Given the description of an element on the screen output the (x, y) to click on. 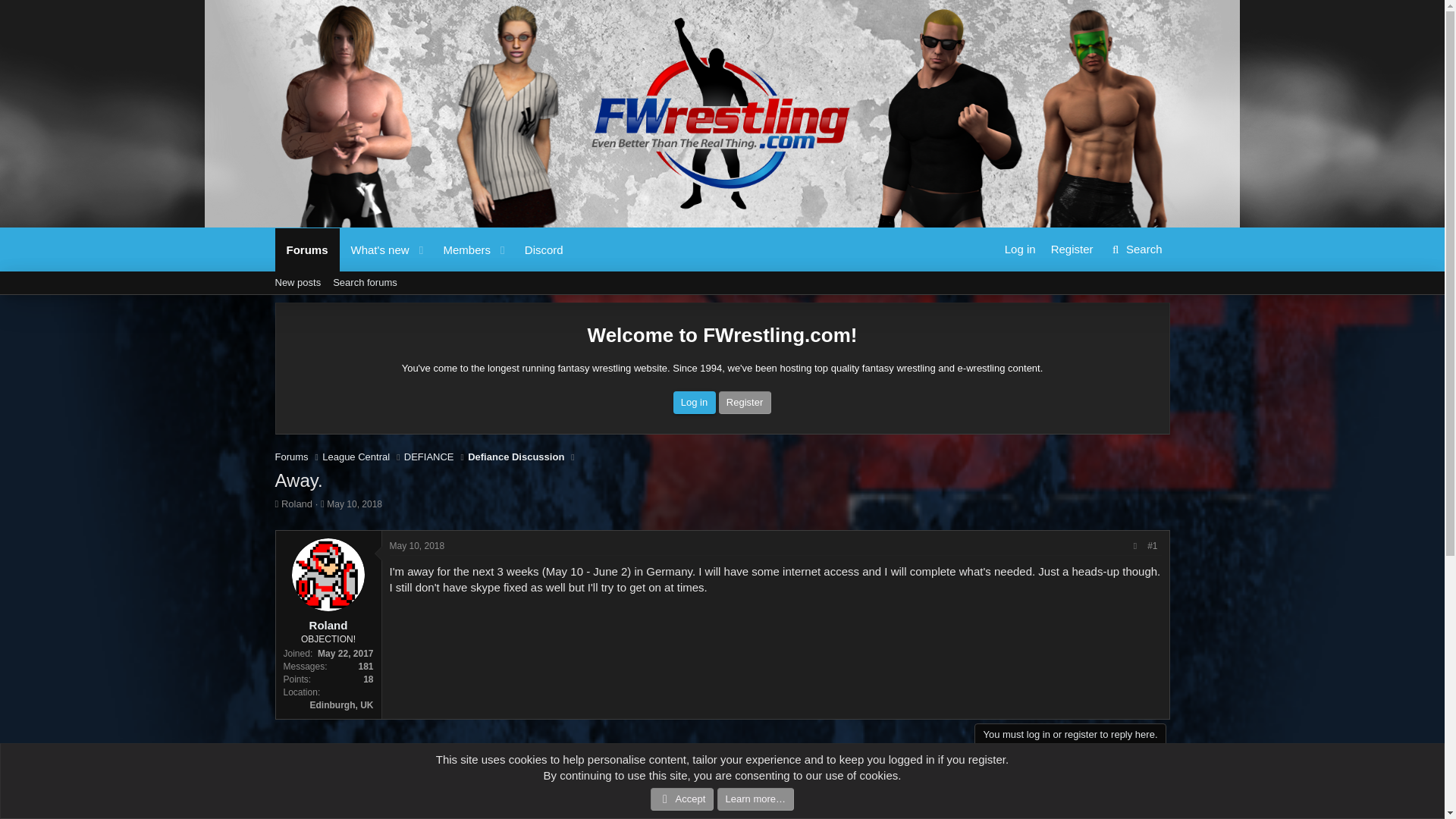
Forums (307, 249)
Members (423, 266)
DEFIANCE (461, 249)
Search (429, 457)
May 10, 2018 (1135, 249)
Search (353, 503)
May 10, 2018 at 2:26 PM (1135, 249)
League Central (353, 503)
Discord (355, 457)
Log in (544, 249)
What's new (694, 402)
May 10, 2018 at 2:26 PM (720, 299)
Roland (374, 249)
